Given the description of an element on the screen output the (x, y) to click on. 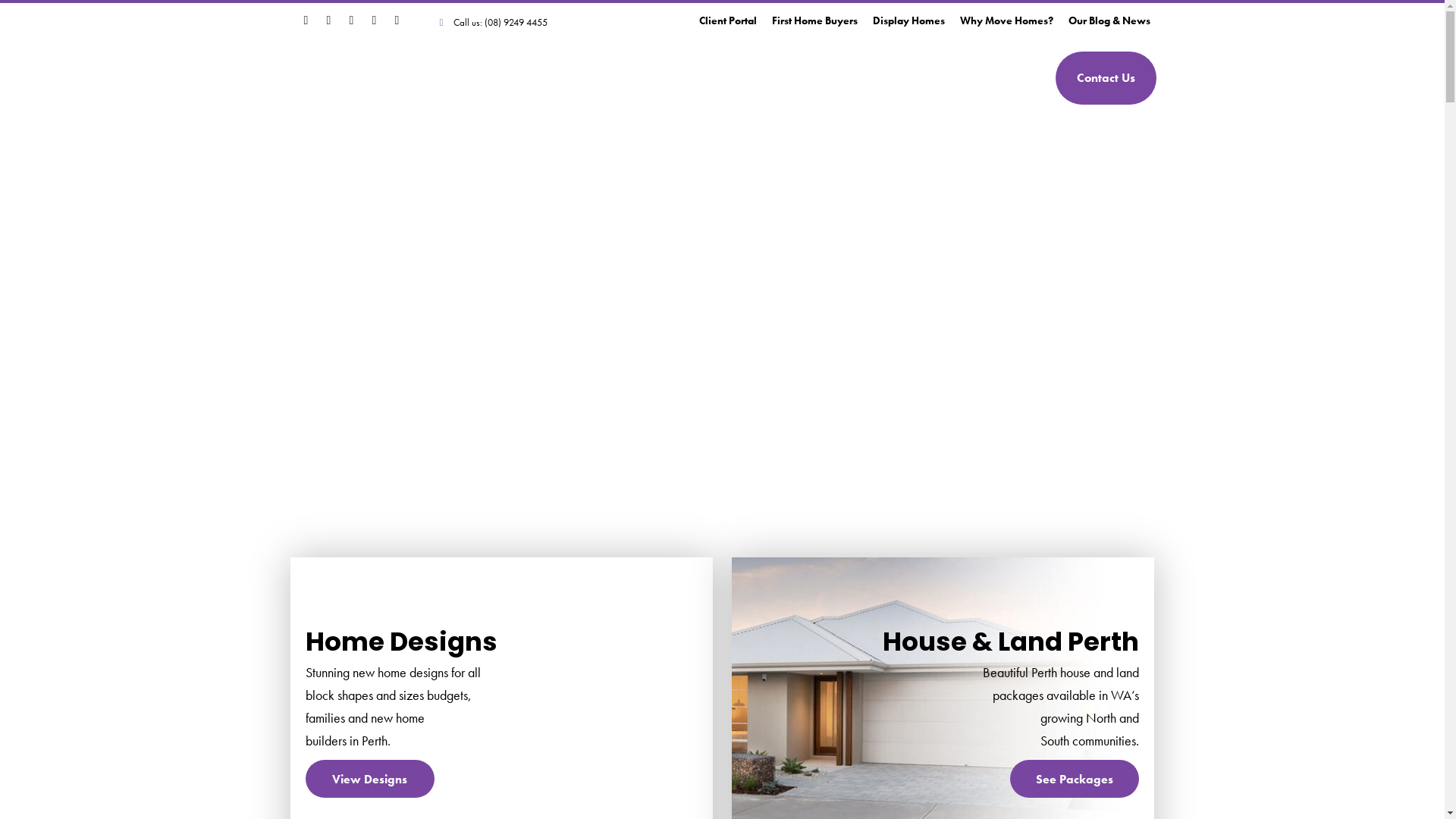
(08) 9249 4455 Element type: text (515, 21)
Home Designs Element type: text (702, 77)
View Designs Element type: text (368, 778)
Finance Element type: text (910, 77)
Client Portal Element type: text (727, 20)
Promotions Element type: text (996, 77)
Contact Us Element type: text (1105, 77)
First Home Buyers Element type: text (814, 20)
Our Blog & News Element type: text (1108, 20)
House & Land Element type: text (815, 77)
Display Homes Element type: text (908, 20)
See Packages Element type: text (1074, 778)
Why Move Homes? Element type: text (1006, 20)
